Given the description of an element on the screen output the (x, y) to click on. 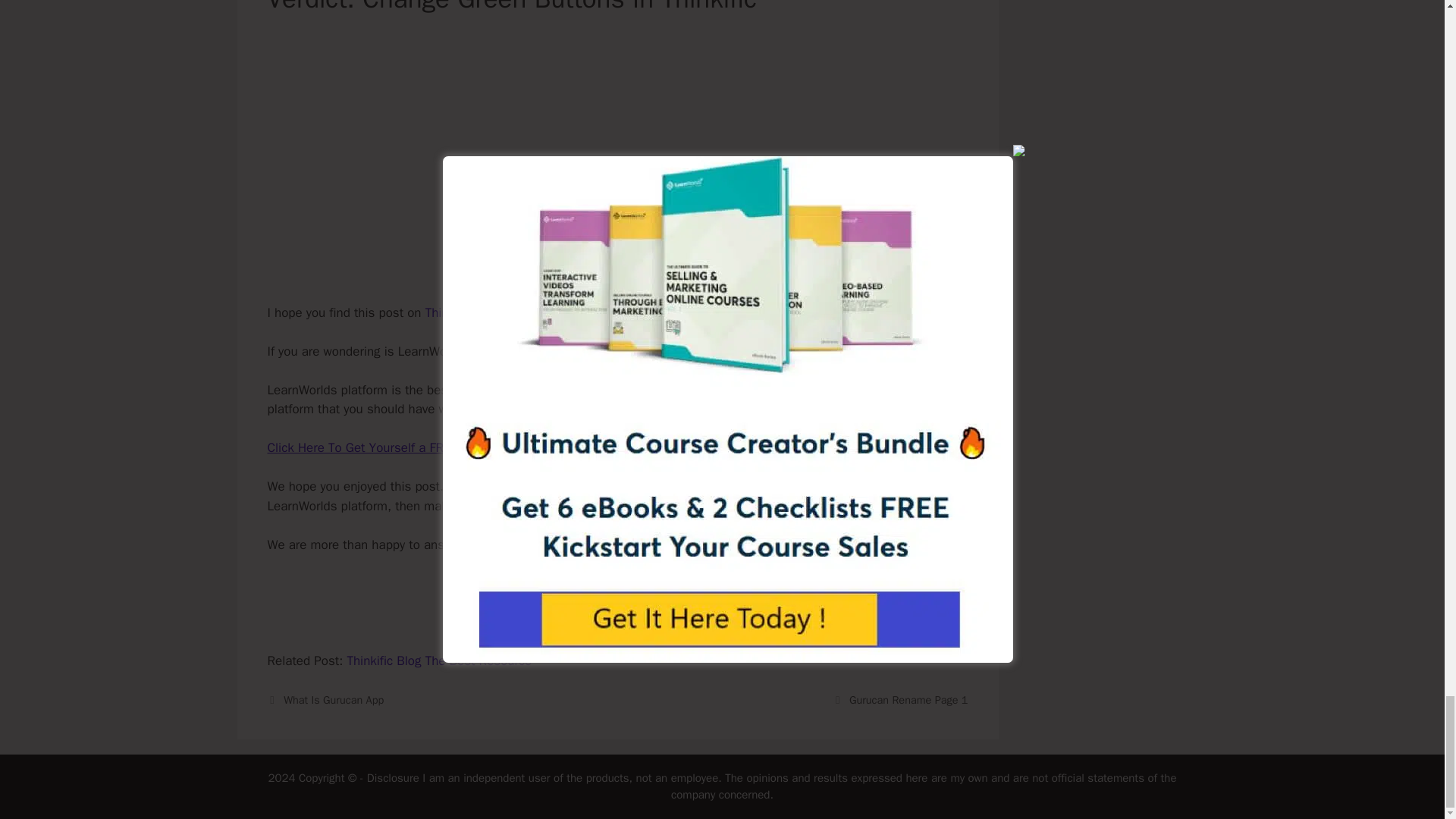
Gurucan Rename Page 1 (908, 699)
Click Here To Get Yourself a FREE TRIAL (379, 447)
Thinkific Blog The Best Resource (438, 660)
Thinkific platform (473, 312)
What Is Gurucan App (333, 699)
